Given the description of an element on the screen output the (x, y) to click on. 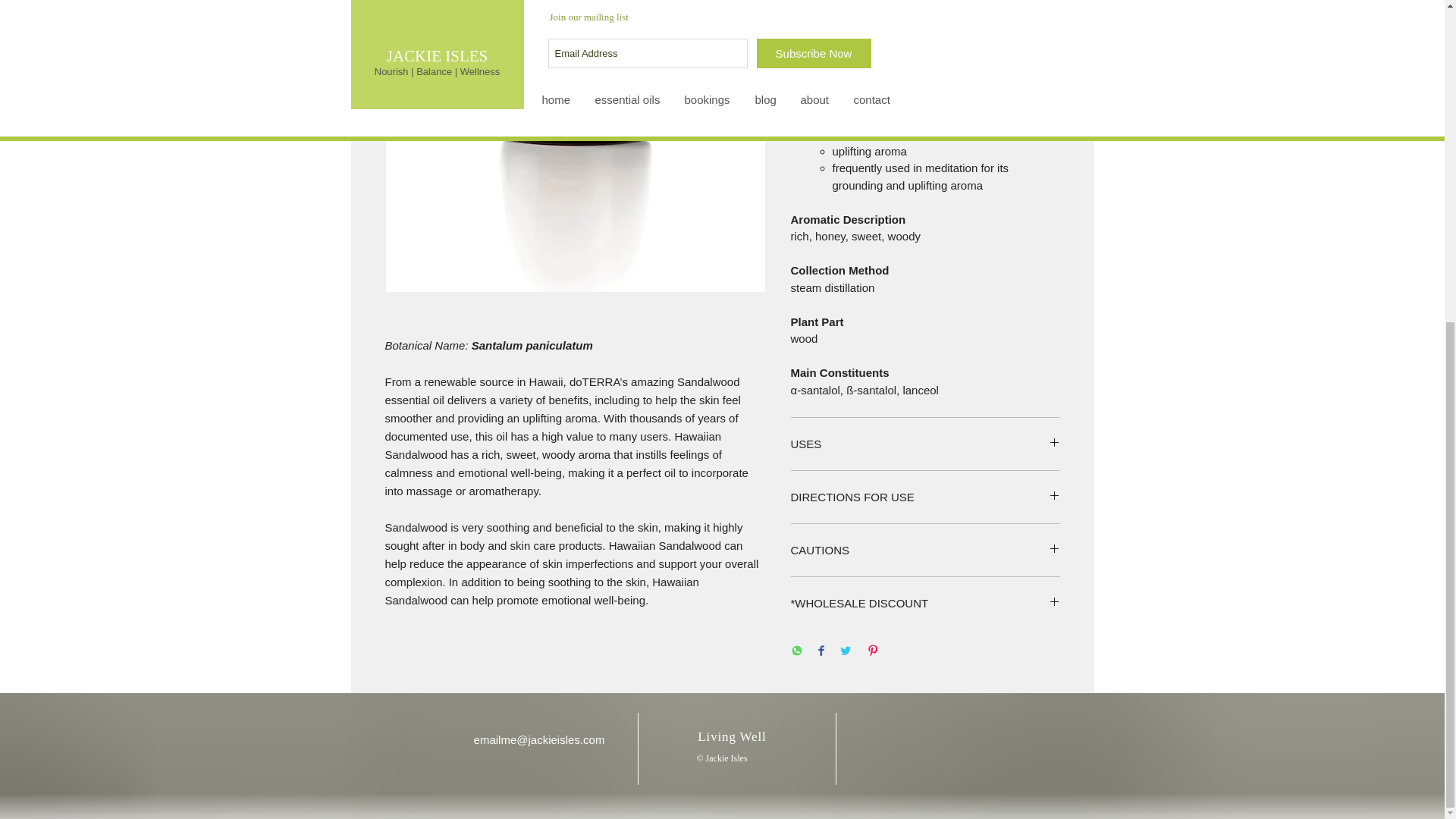
CAUTIONS (924, 549)
PRODUCT INFO (924, 36)
DIRECTIONS FOR USE (924, 496)
USES (924, 443)
